Given the description of an element on the screen output the (x, y) to click on. 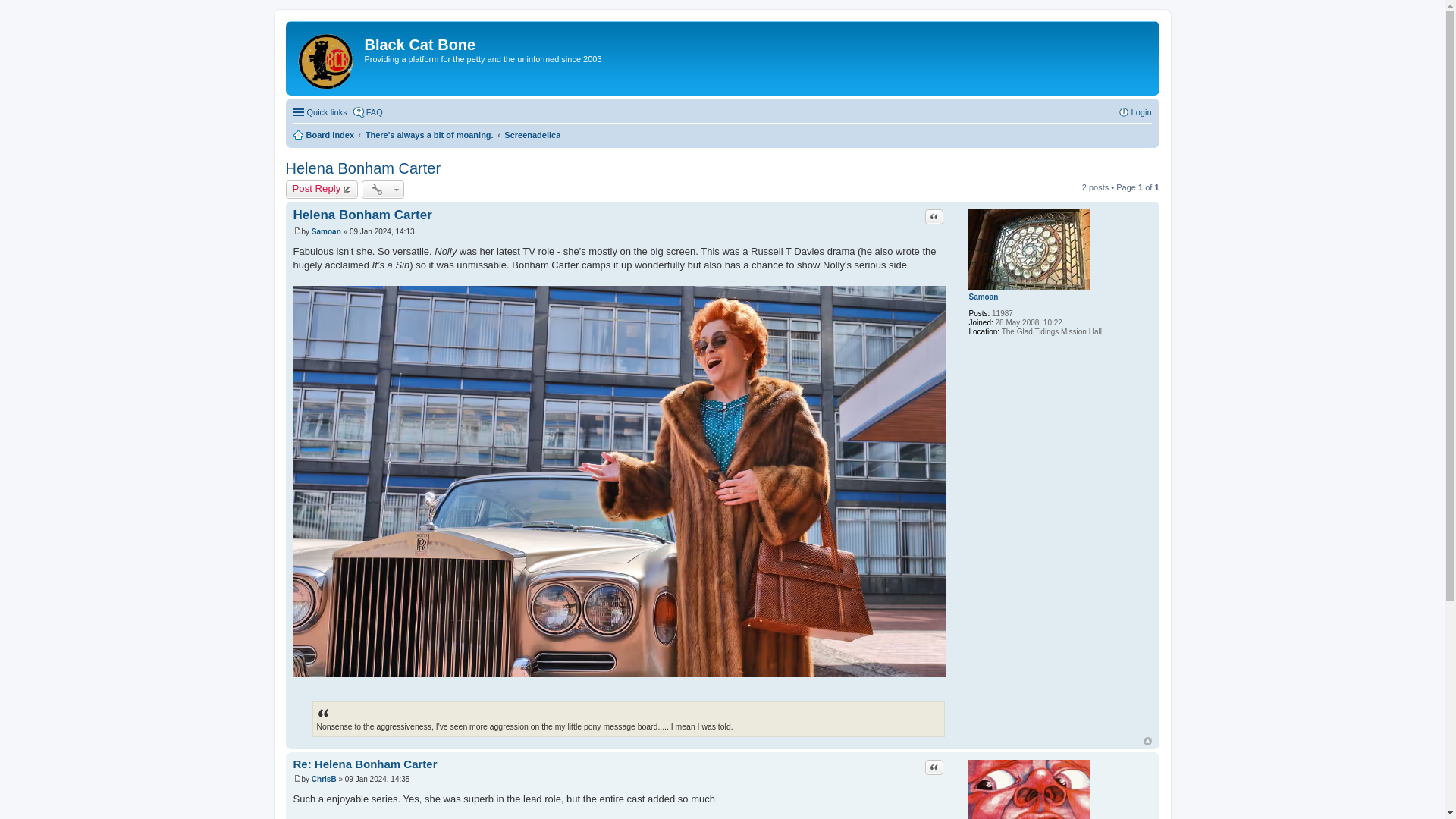
Helena Bonham Carter (363, 167)
Samoan (982, 296)
Login (1134, 112)
Post (296, 231)
Quick links (319, 112)
Screenadelica (531, 135)
There's always a bit of moaning. (429, 135)
Top (1146, 741)
Re: Helena Bonham Carter (364, 763)
ChrisB (323, 778)
Post (296, 230)
Top (1146, 741)
Post (296, 778)
Post a reply (321, 189)
Board index (327, 58)
